Given the description of an element on the screen output the (x, y) to click on. 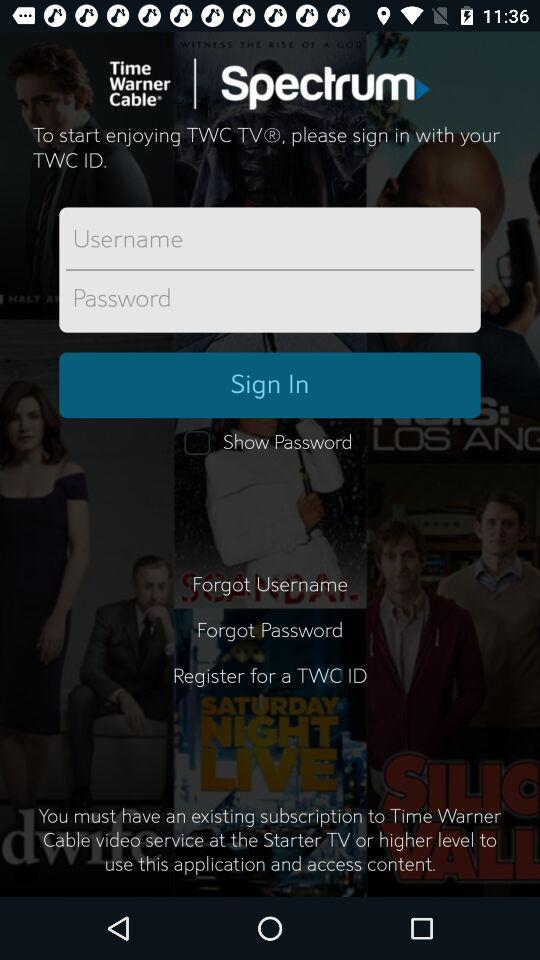
press the forgot password item (270, 630)
